Given the description of an element on the screen output the (x, y) to click on. 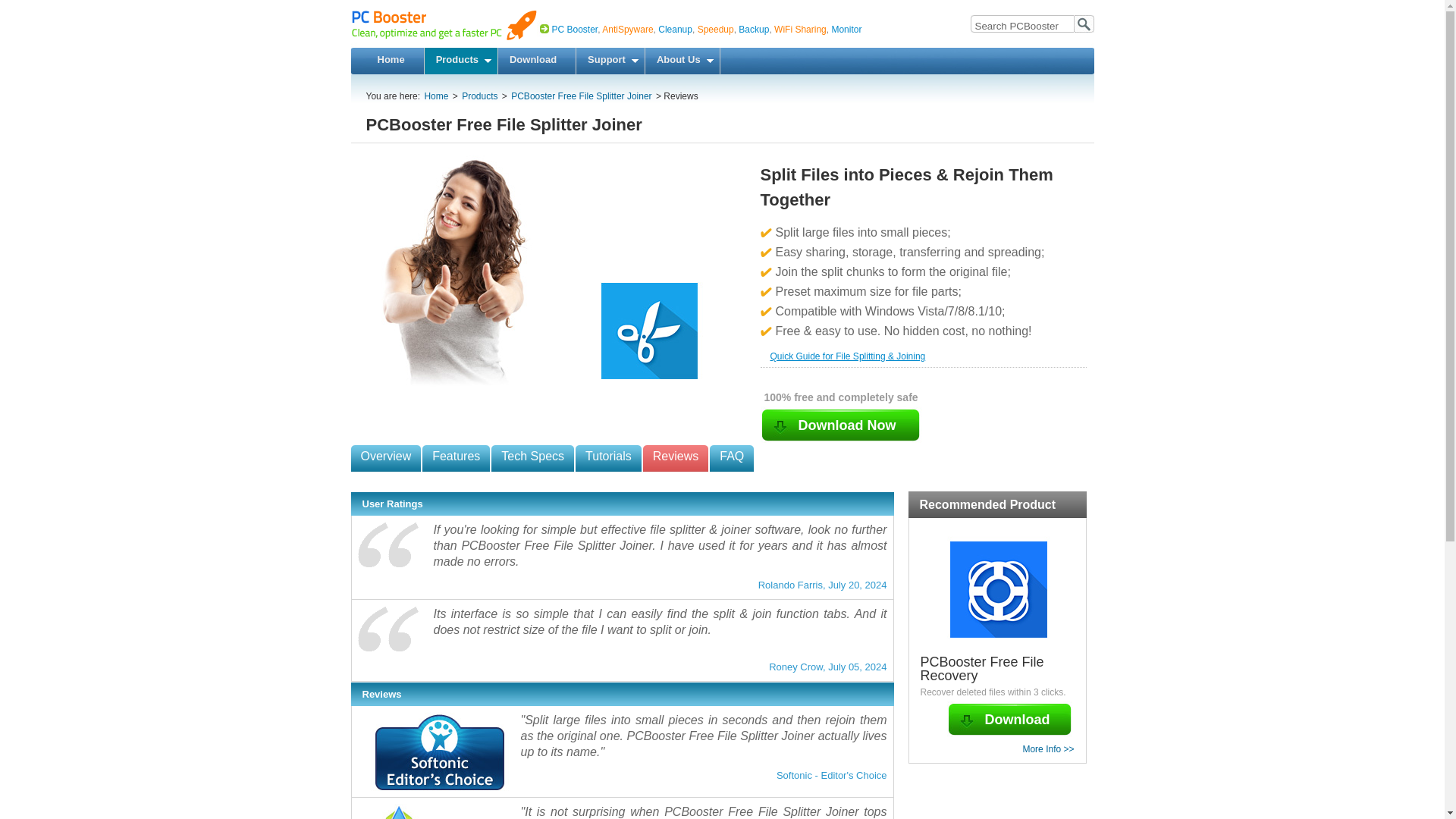
Backup (753, 29)
PCBooster Free File Splitter Joiner (547, 275)
Search (1084, 23)
Brothersoft - Editor's Pick (439, 811)
PC Booster (574, 29)
Cleanup (675, 29)
AntiSpyware (626, 29)
Products (461, 60)
Speedup (715, 29)
Search PCBooster (1020, 25)
Softonic - Editor's Choice (439, 751)
Monitor (846, 29)
Home (394, 60)
WiFi Sharing (800, 29)
